Given the description of an element on the screen output the (x, y) to click on. 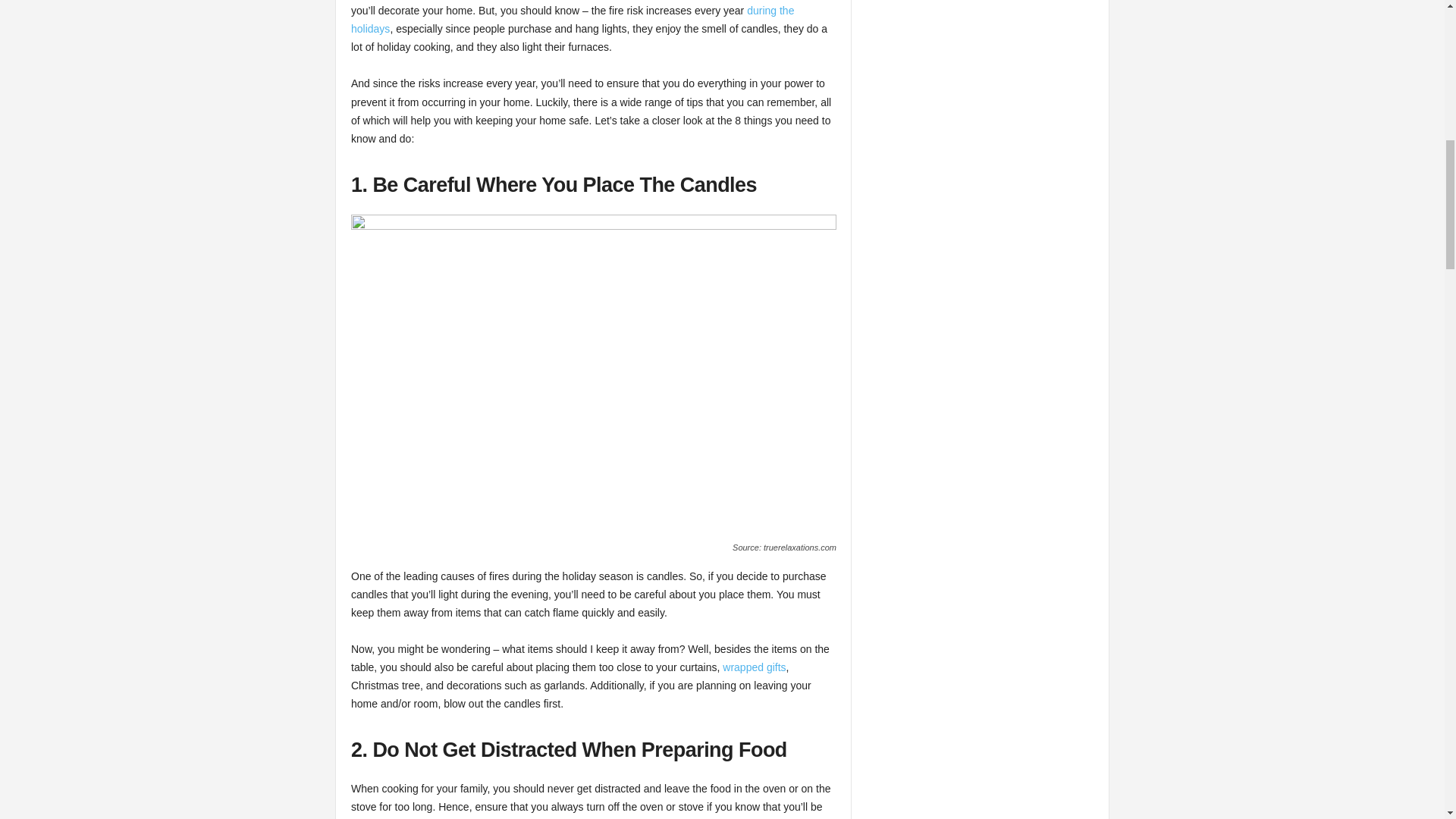
wrapped gifts (754, 666)
during the holidays (571, 19)
